Given the description of an element on the screen output the (x, y) to click on. 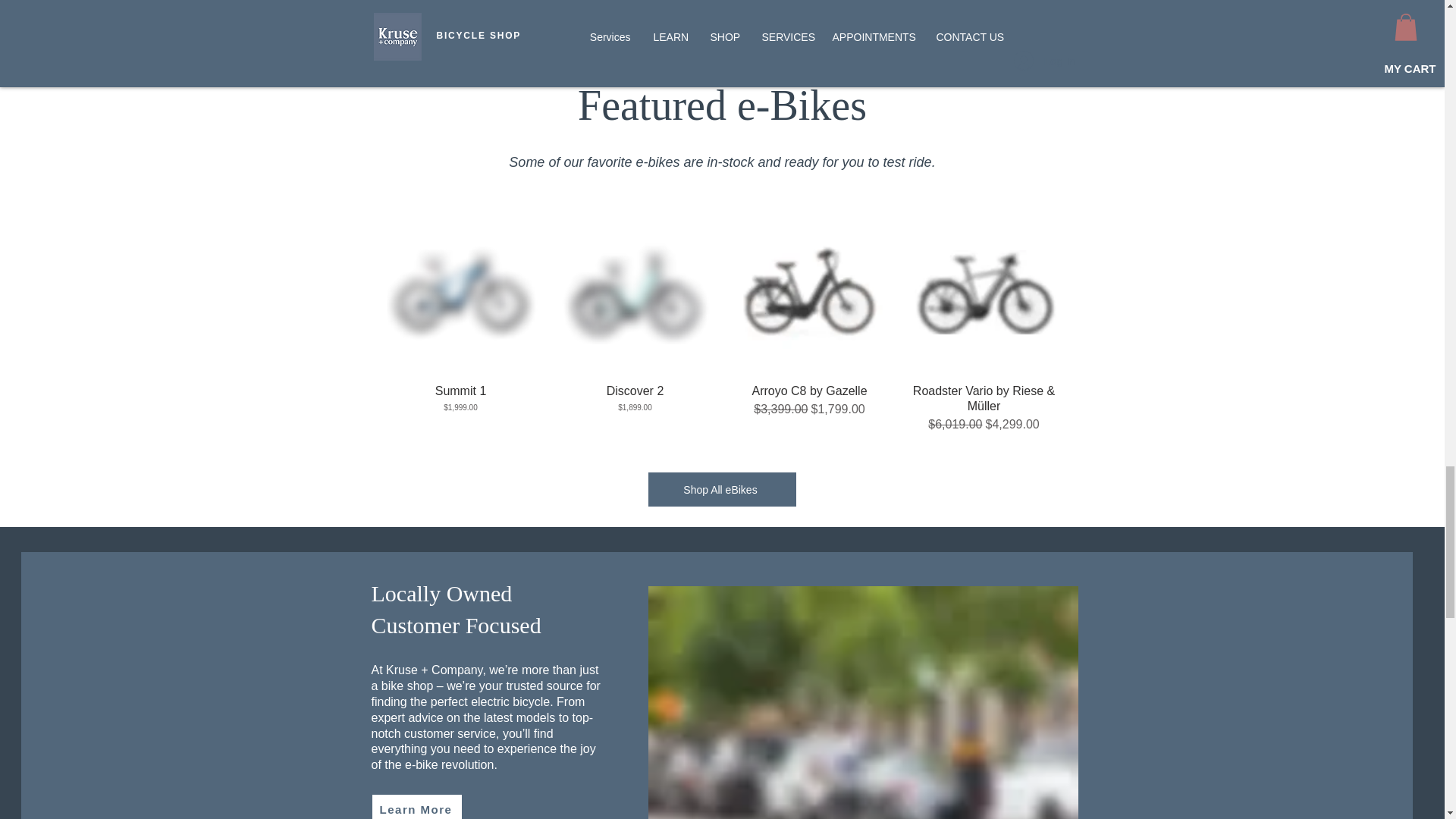
GRO2209sdk-1178.jpg (862, 702)
